Given the description of an element on the screen output the (x, y) to click on. 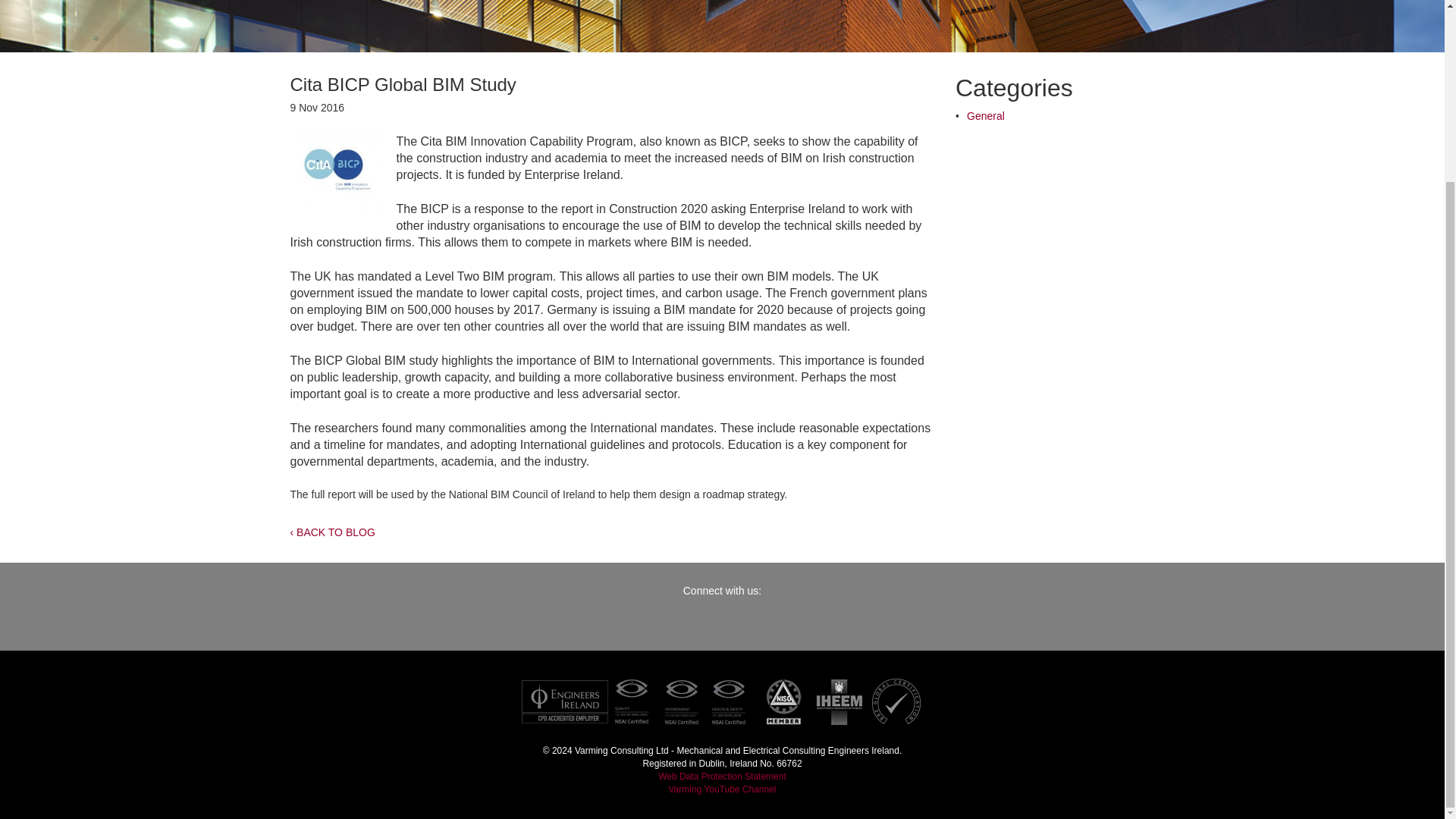
Varming YouTube Channel (722, 788)
General (985, 115)
Web Data Protection Statement (722, 776)
Certifications (721, 701)
